Given the description of an element on the screen output the (x, y) to click on. 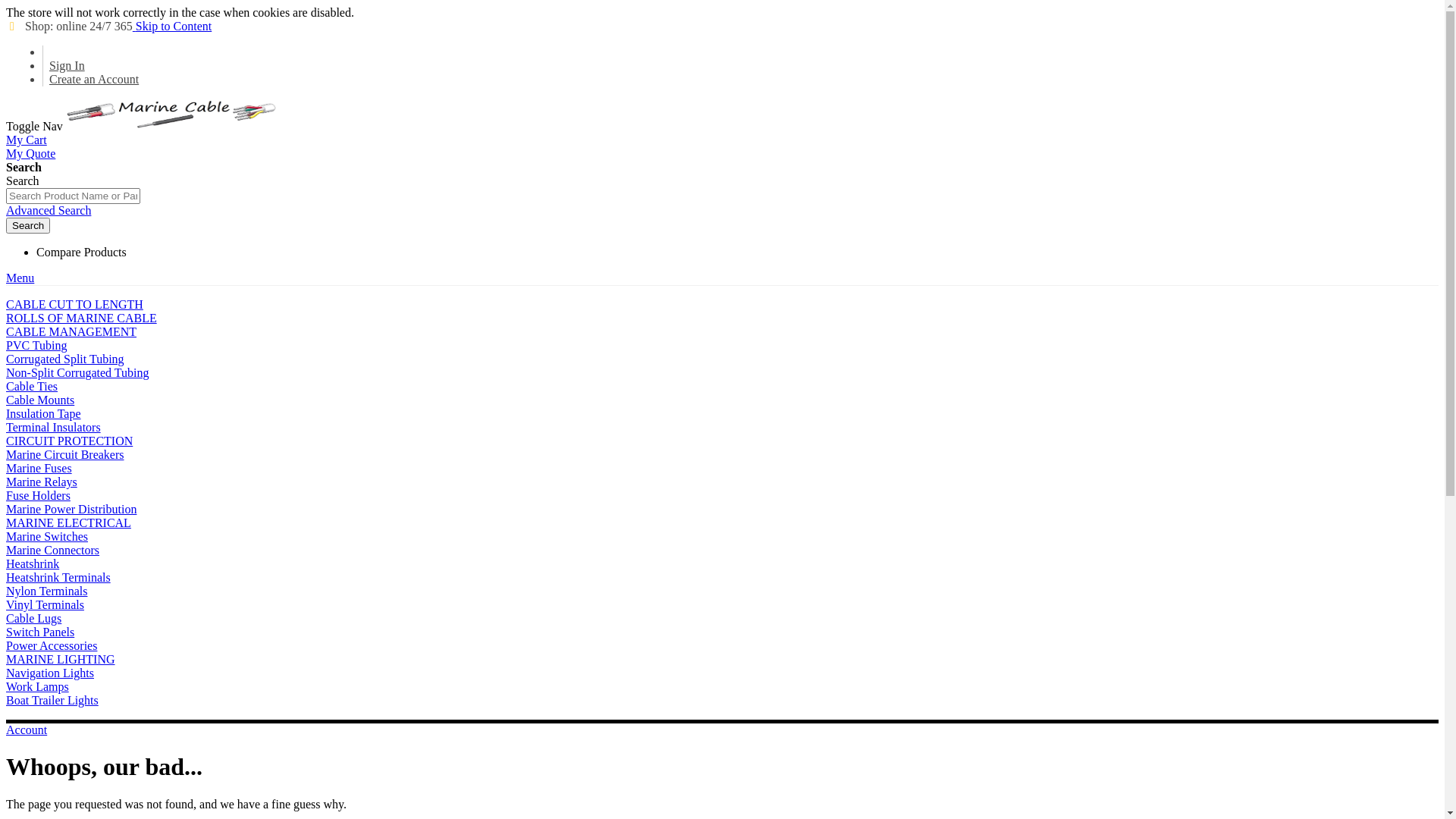
PVC Tubing Element type: text (36, 344)
MARINE LIGHTING Element type: text (60, 658)
Compare Products Element type: text (81, 251)
Navigation Lights Element type: text (50, 672)
Fuse Holders Element type: text (38, 495)
Menu Element type: text (20, 277)
Cable Ties Element type: text (31, 385)
Marine Circuit Breakers Element type: text (65, 454)
Advanced Search Element type: text (48, 209)
Heatshrink Element type: text (32, 563)
Marine Connectors Element type: text (52, 549)
My Cart Element type: text (26, 139)
Skip to Content Element type: text (171, 25)
Marine Cable Supplied Worldwide Element type: hover (171, 125)
Nylon Terminals Element type: text (46, 590)
Heatshrink Terminals Element type: text (58, 577)
Marine Relays Element type: text (41, 481)
Boat Trailer Lights Element type: text (52, 699)
Marine Cable Supplied Worldwide Element type: hover (171, 114)
Work Lamps Element type: text (37, 686)
Create an Account Element type: text (93, 78)
My Quote Element type: text (30, 153)
Marine Power Distribution Element type: text (71, 508)
CABLE CUT TO LENGTH Element type: text (74, 304)
Marine Fuses Element type: text (39, 467)
Non-Split Corrugated Tubing Element type: text (77, 372)
Insulation Tape Element type: text (43, 413)
Sign In Element type: text (66, 65)
Switch Panels Element type: text (40, 631)
Cable Mounts Element type: text (40, 399)
Corrugated Split Tubing Element type: text (65, 358)
MARINE ELECTRICAL Element type: text (68, 522)
Power Accessories Element type: text (51, 645)
Cable Lugs Element type: text (33, 617)
CABLE MANAGEMENT Element type: text (71, 331)
CIRCUIT PROTECTION Element type: text (69, 440)
Terminal Insulators Element type: text (53, 426)
ROLLS OF MARINE CABLE Element type: text (81, 317)
Vinyl Terminals Element type: text (45, 604)
Marine Switches Element type: text (46, 536)
Search Element type: text (28, 225)
Account Element type: text (26, 729)
